Given the description of an element on the screen output the (x, y) to click on. 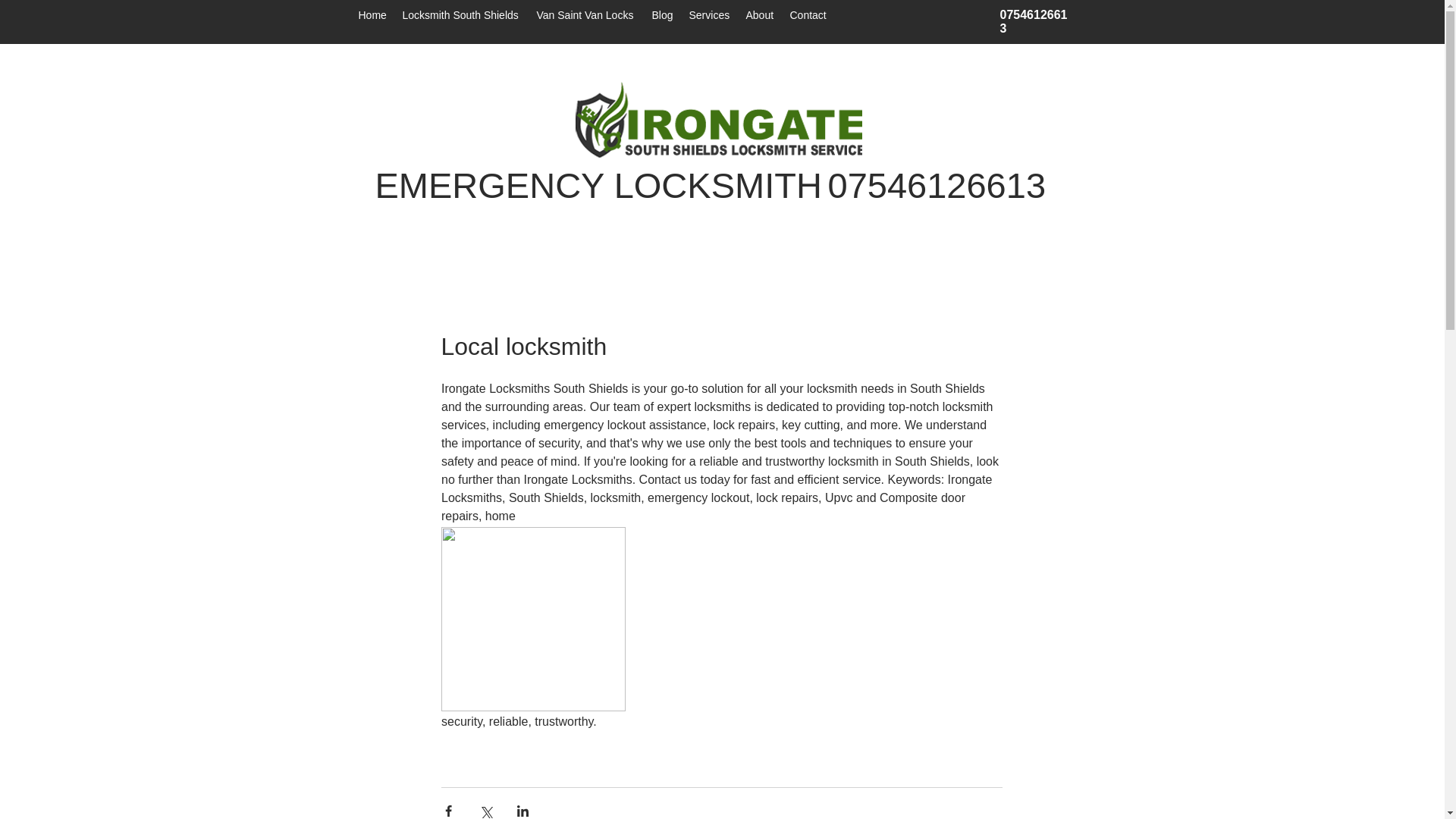
Home (372, 15)
About (760, 15)
Blog (663, 15)
07546126613 (1032, 21)
EMERGENCY LOCKSMITH (597, 185)
Services (709, 15)
Van Saint Van Locks (587, 15)
Locksmith South Shields (461, 15)
07546126613 (937, 185)
Contact (809, 15)
